Given the description of an element on the screen output the (x, y) to click on. 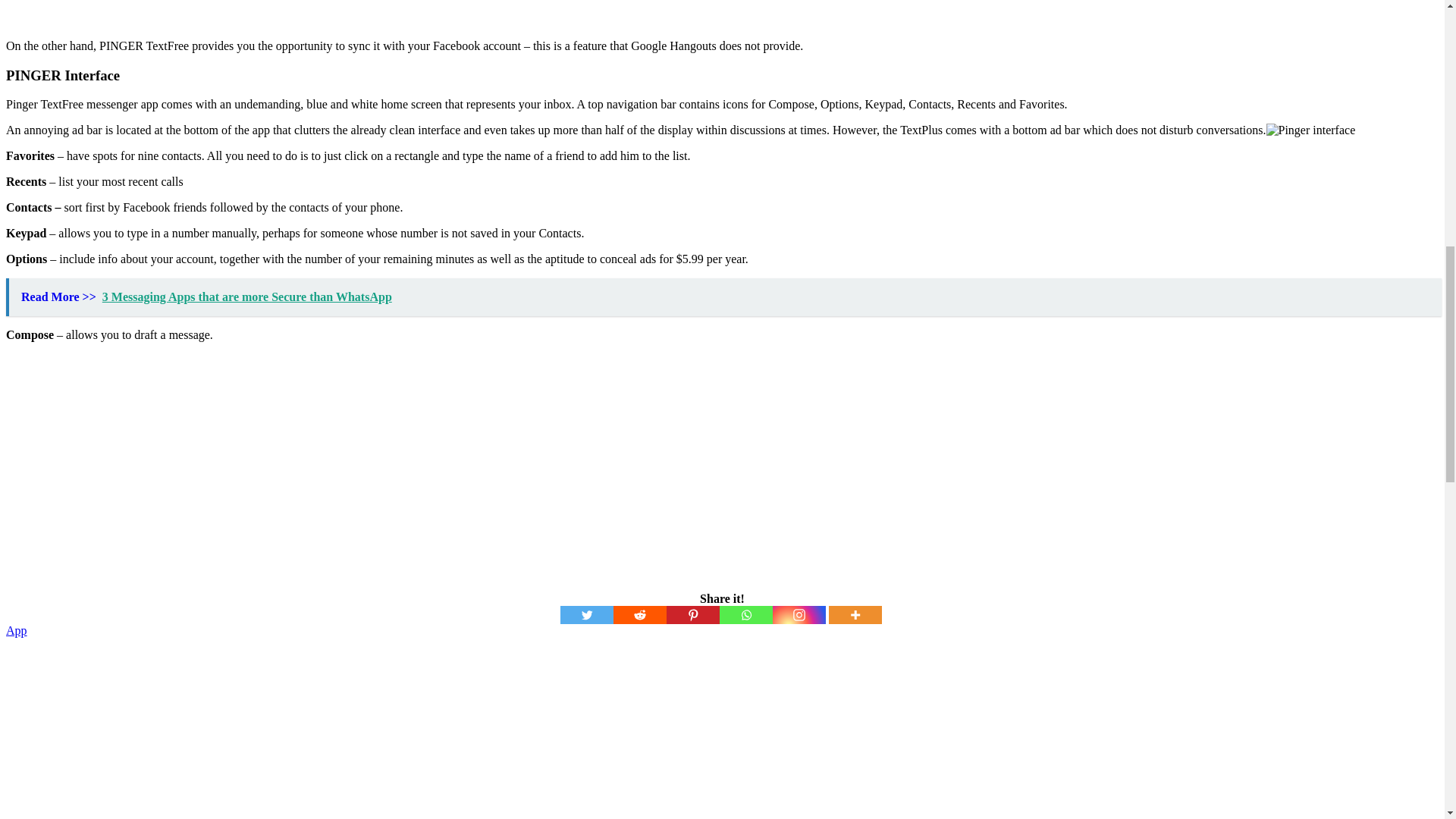
Instagram (798, 615)
Reddit (638, 615)
Whatsapp (745, 615)
App (16, 630)
More (854, 615)
Pinterest (692, 615)
Twitter (585, 615)
